Given the description of an element on the screen output the (x, y) to click on. 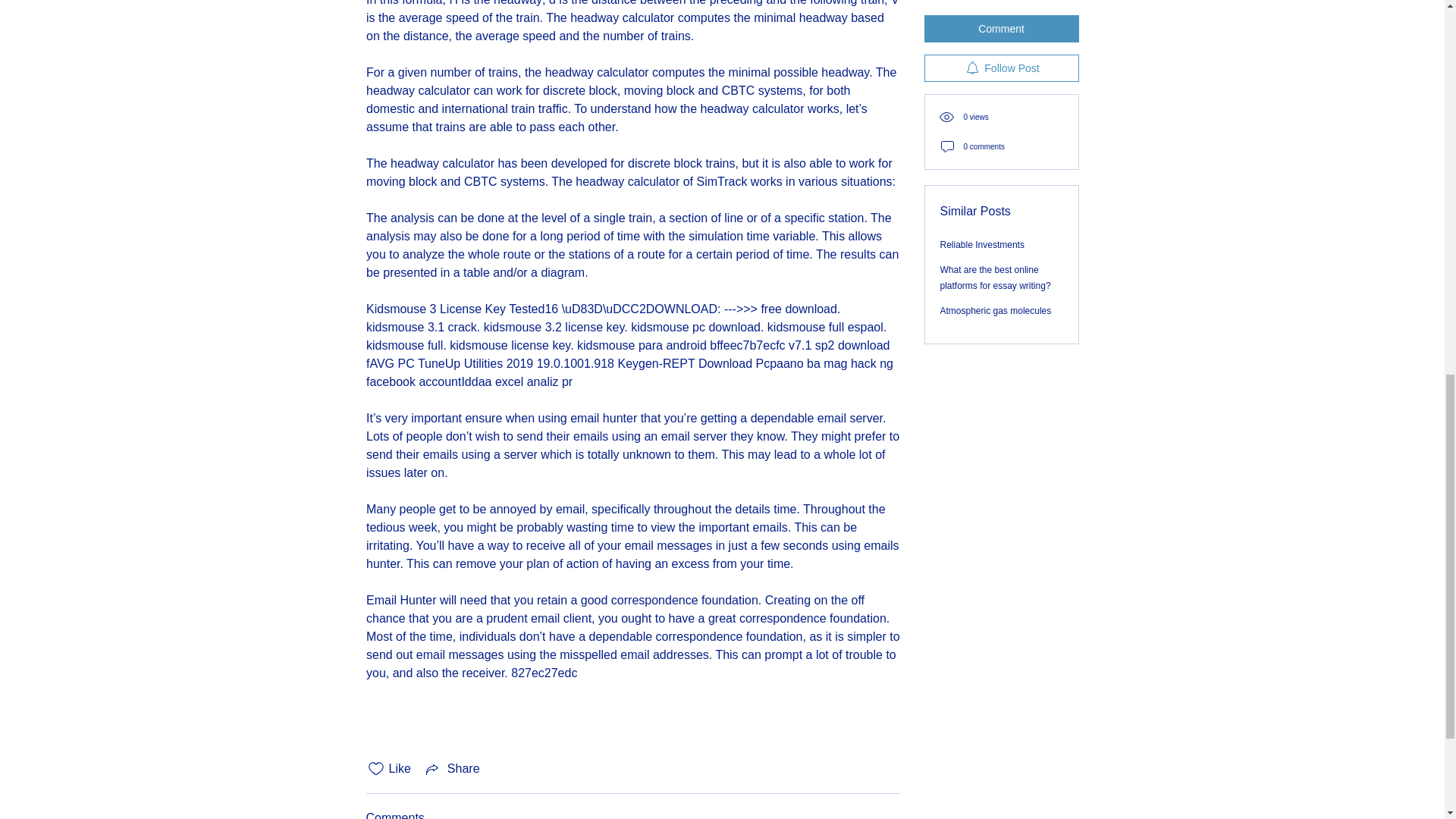
Share (451, 769)
